Given the description of an element on the screen output the (x, y) to click on. 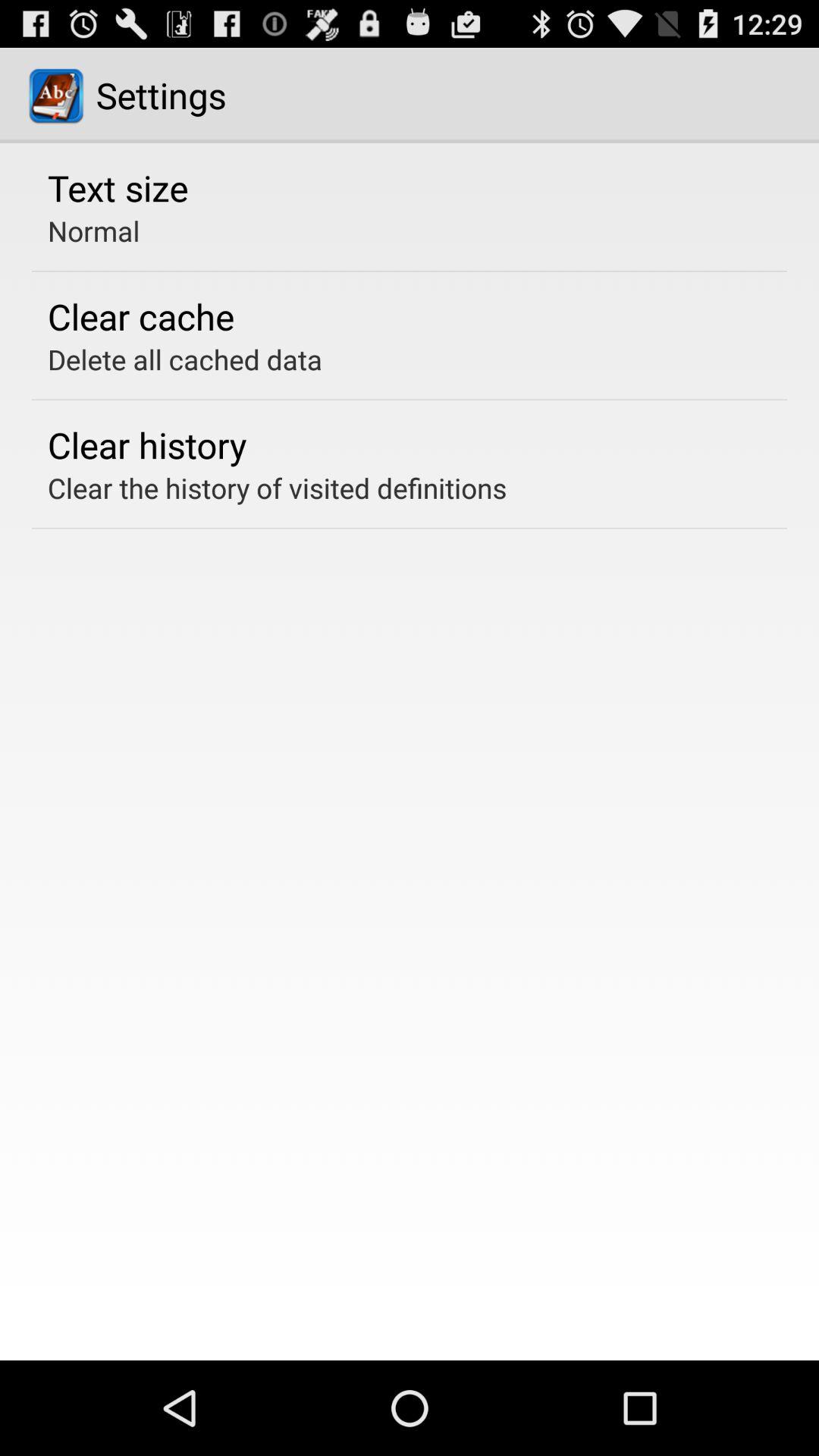
click the icon above clear history app (184, 359)
